Given the description of an element on the screen output the (x, y) to click on. 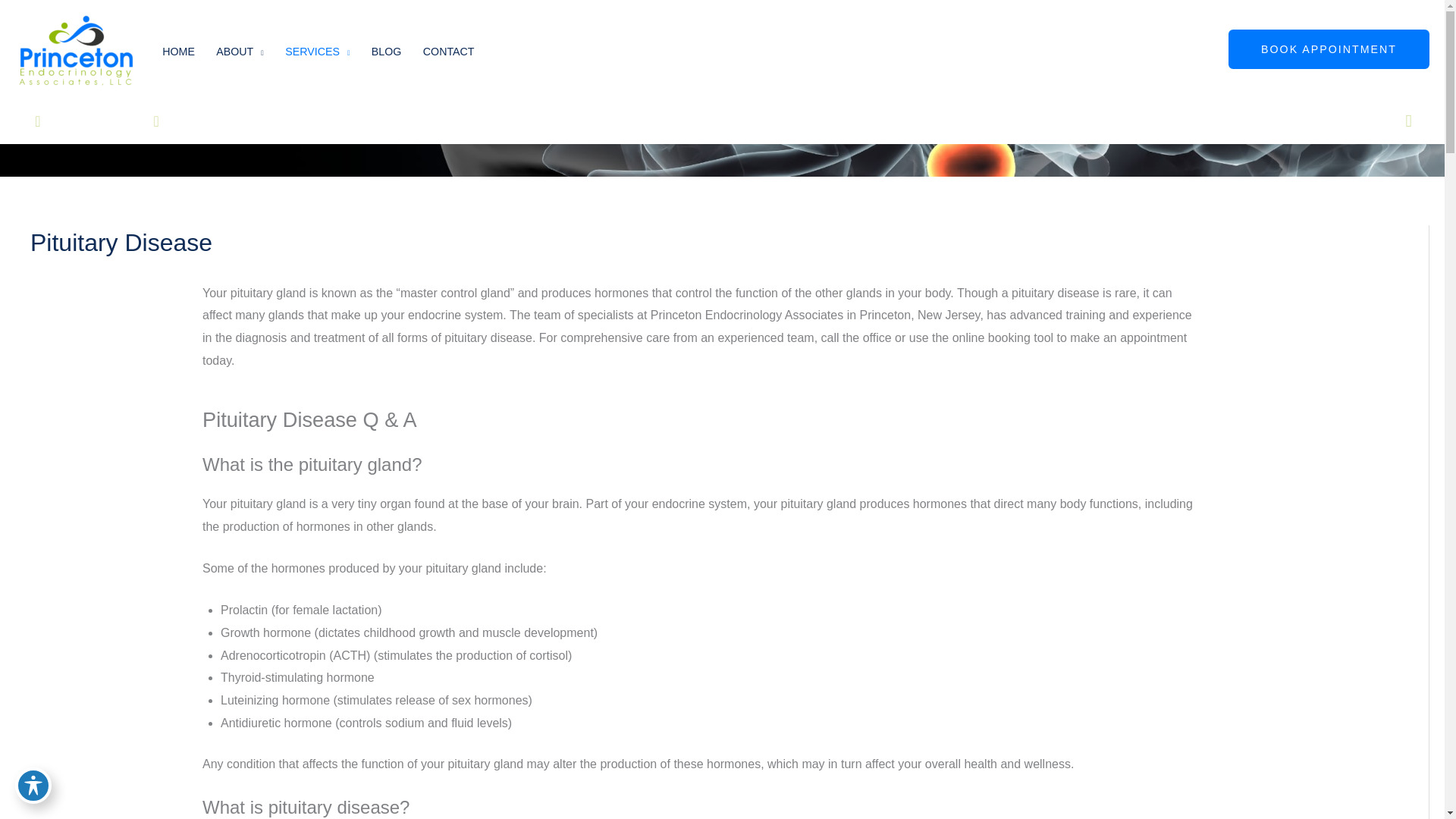
SERVICES (318, 51)
CONTACT (448, 51)
609.921.1511 (198, 120)
BLOG (386, 51)
BOOK APPOINTMENT (1328, 48)
ABOUT (240, 51)
HOME (178, 51)
Princeton, NJ (74, 120)
